Given the description of an element on the screen output the (x, y) to click on. 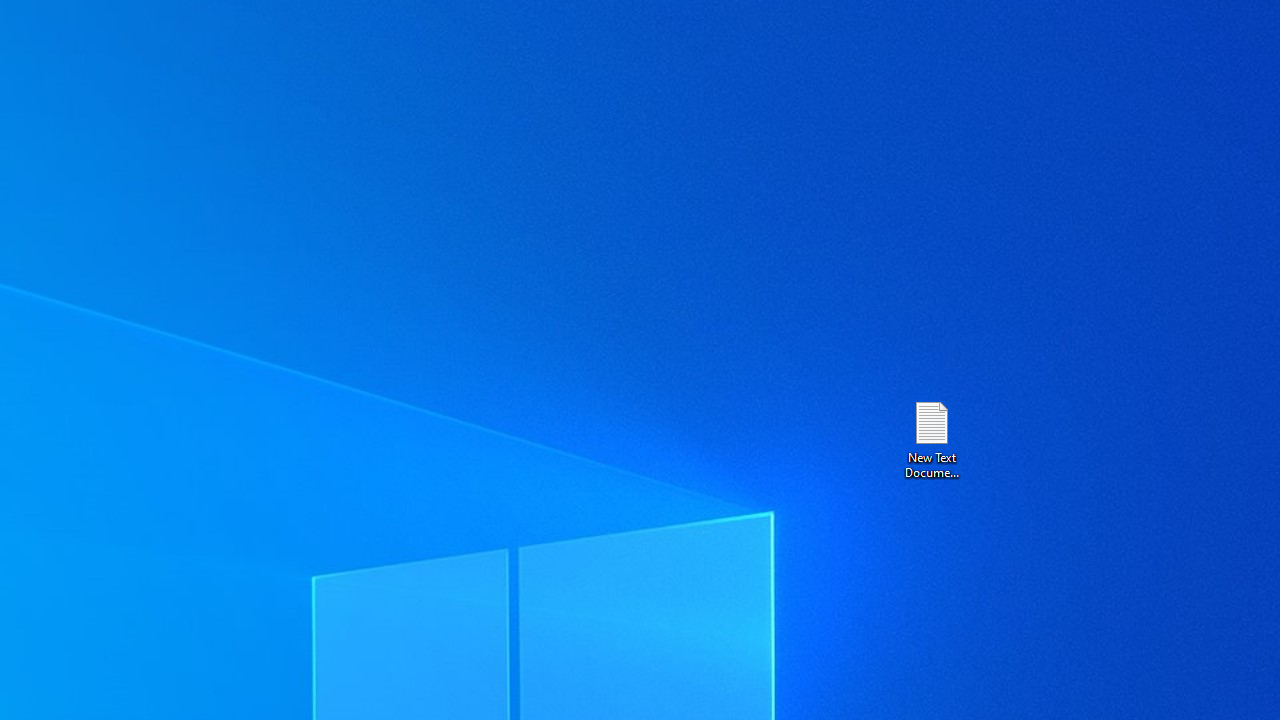
New Text Document (2) (931, 438)
